Given the description of an element on the screen output the (x, y) to click on. 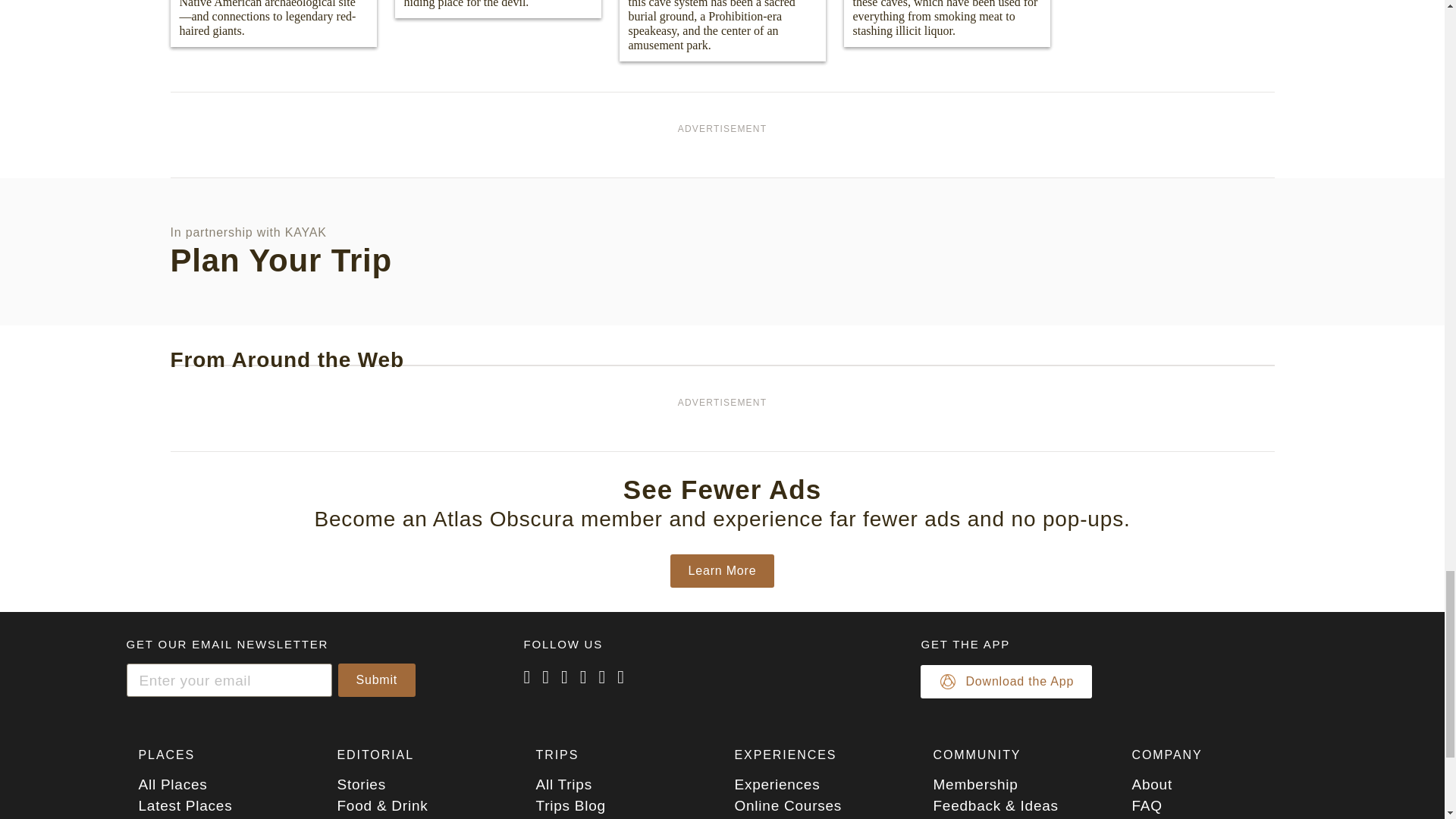
Submit (376, 679)
